Given the description of an element on the screen output the (x, y) to click on. 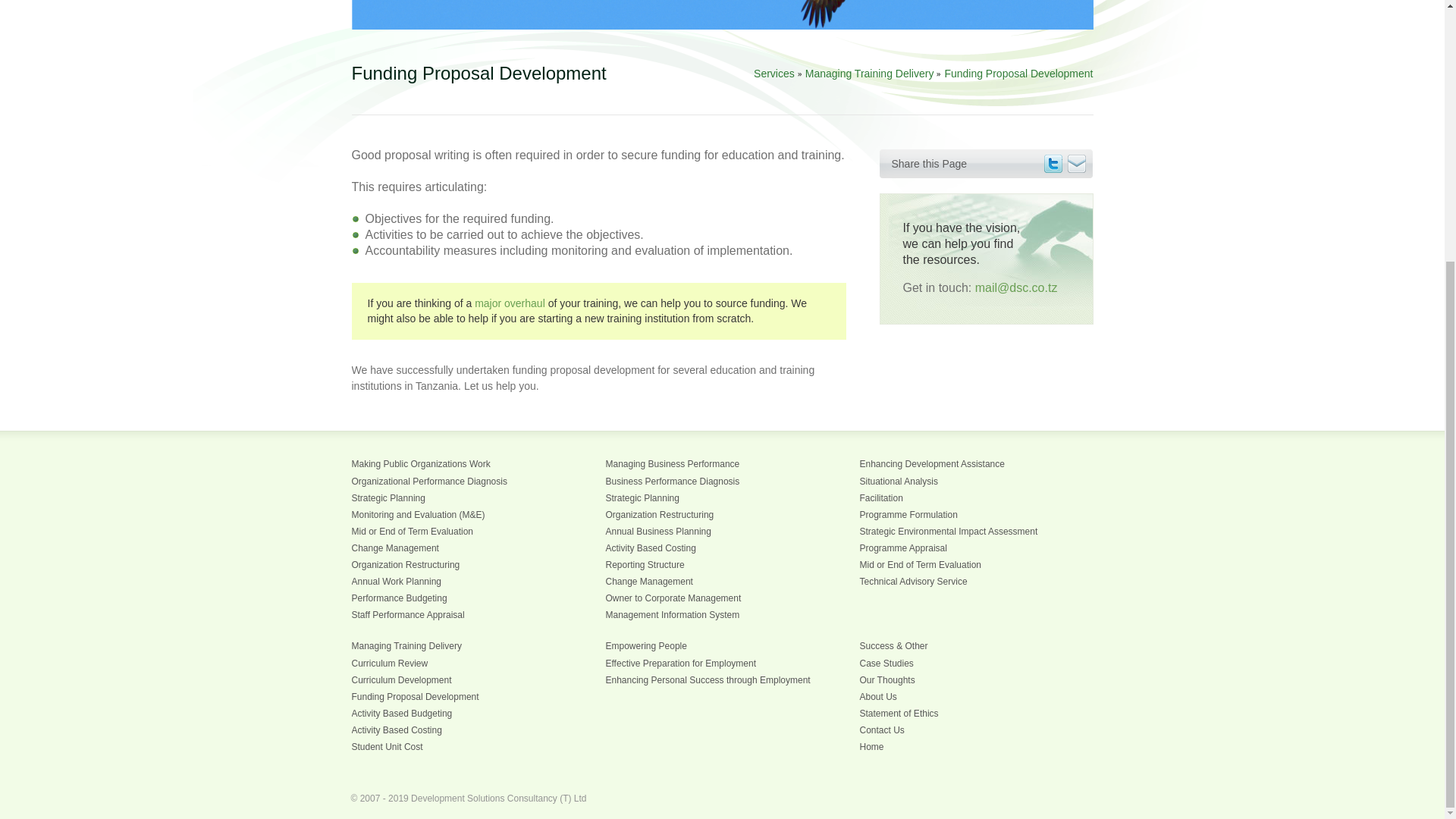
Performance Budgeting (399, 597)
Change Management (649, 581)
Annual Work Planning (397, 581)
major overhaul (509, 303)
Managing Business Performance (672, 463)
Owner to Corporate Management (673, 597)
Management Information System (672, 614)
Strategic Planning (388, 498)
Business Performance Diagnosis (672, 480)
Staff Performance Appraisal (408, 614)
Organization Restructuring (406, 564)
Situational Analysis (898, 480)
email (1076, 163)
Reporting Structure (644, 564)
Organizational Performance Diagnosis (429, 480)
